Given the description of an element on the screen output the (x, y) to click on. 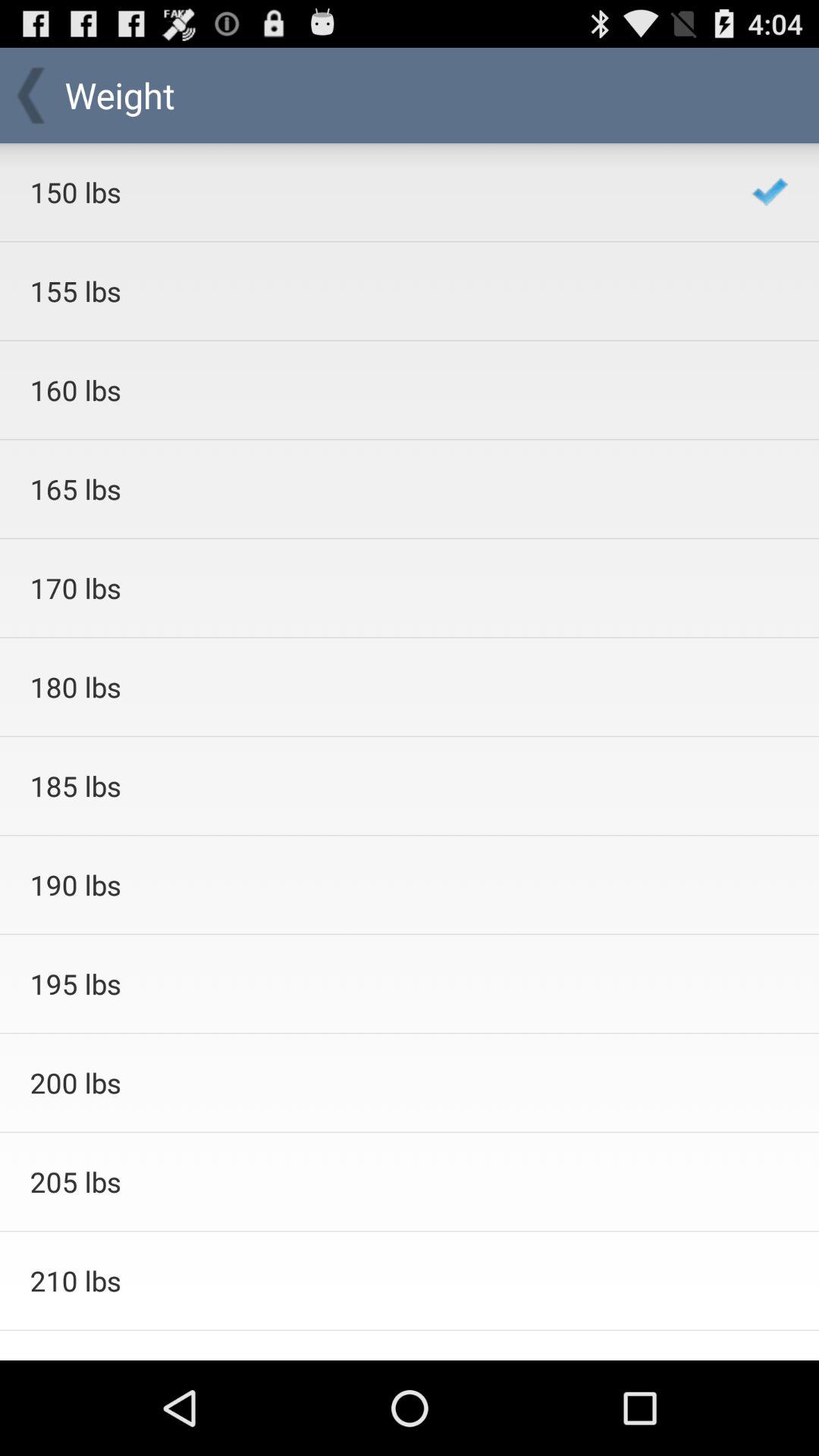
scroll until the 195 lbs app (371, 983)
